Given the description of an element on the screen output the (x, y) to click on. 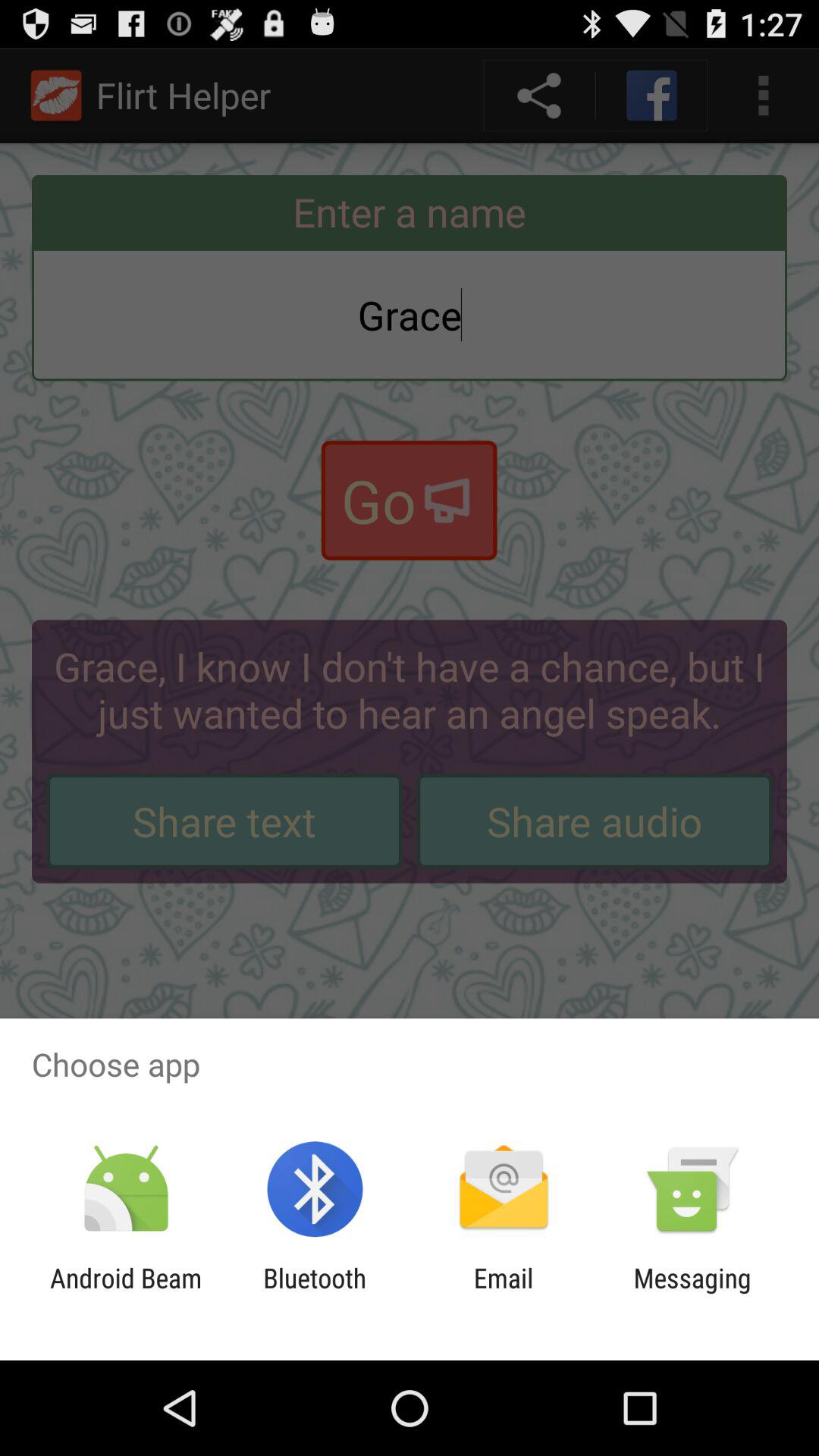
turn off the item next to the bluetooth app (125, 1293)
